Given the description of an element on the screen output the (x, y) to click on. 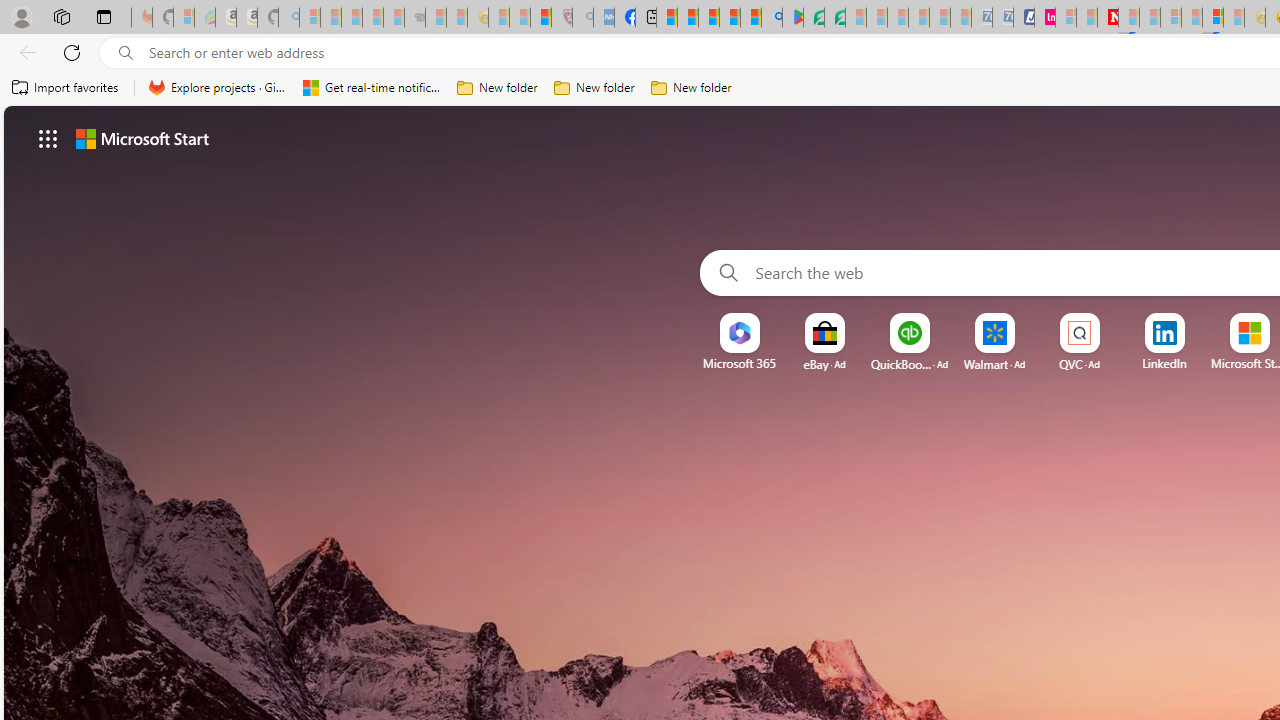
Jobs - lastminute.com Investor Portal (1044, 17)
Search icon (125, 53)
Microsoft Word - consumer-privacy address update 2.2021 (834, 17)
New folder (691, 88)
